Given the description of an element on the screen output the (x, y) to click on. 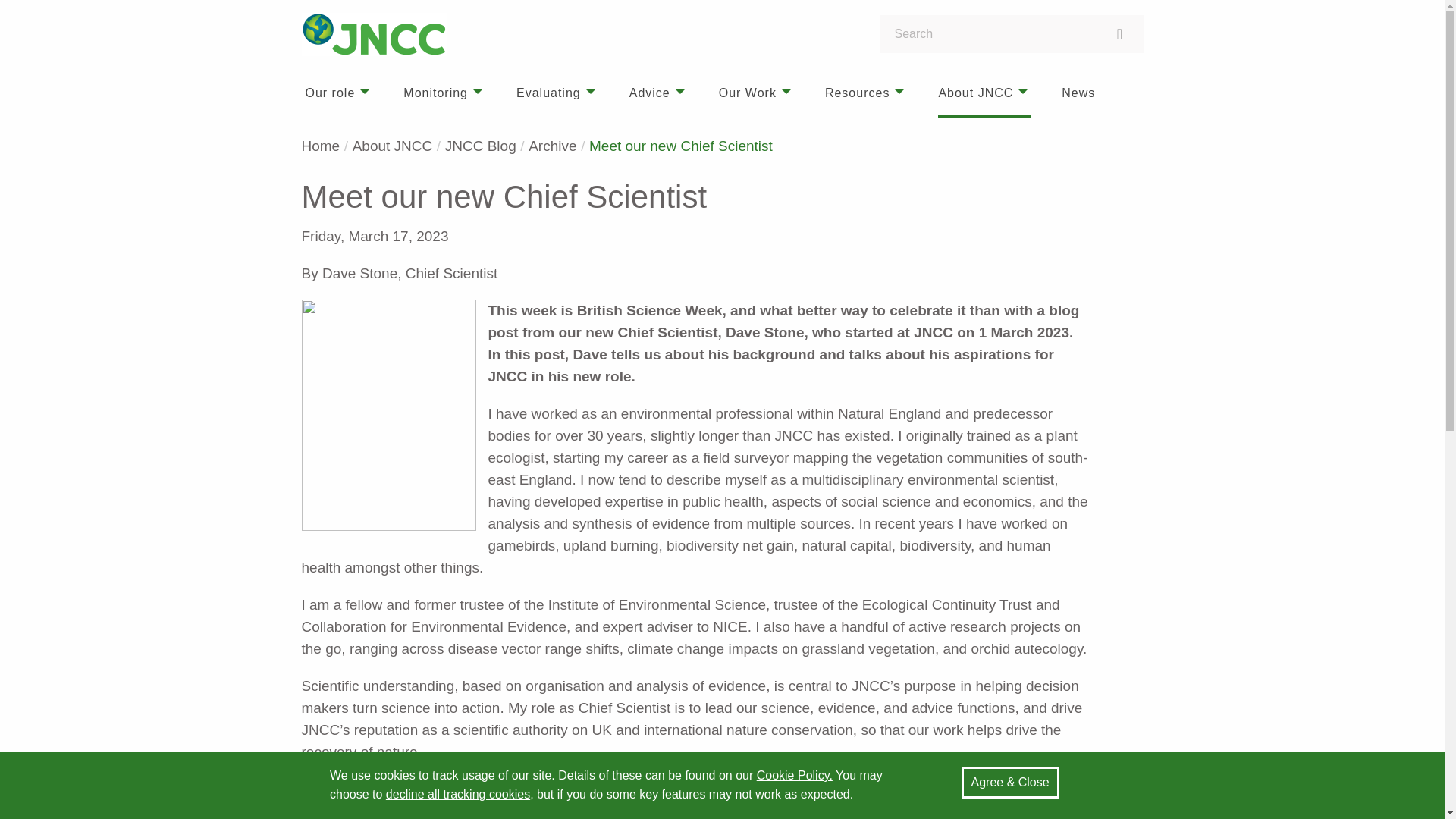
Cookie policy (794, 775)
Our Work (756, 92)
Monitoring (444, 92)
JNCC Blog (480, 145)
Advice (658, 92)
Home (320, 145)
About JNCC (392, 145)
Resources (866, 92)
Evaluating (557, 92)
About JNCC (983, 92)
Our role (338, 92)
